Given the description of an element on the screen output the (x, y) to click on. 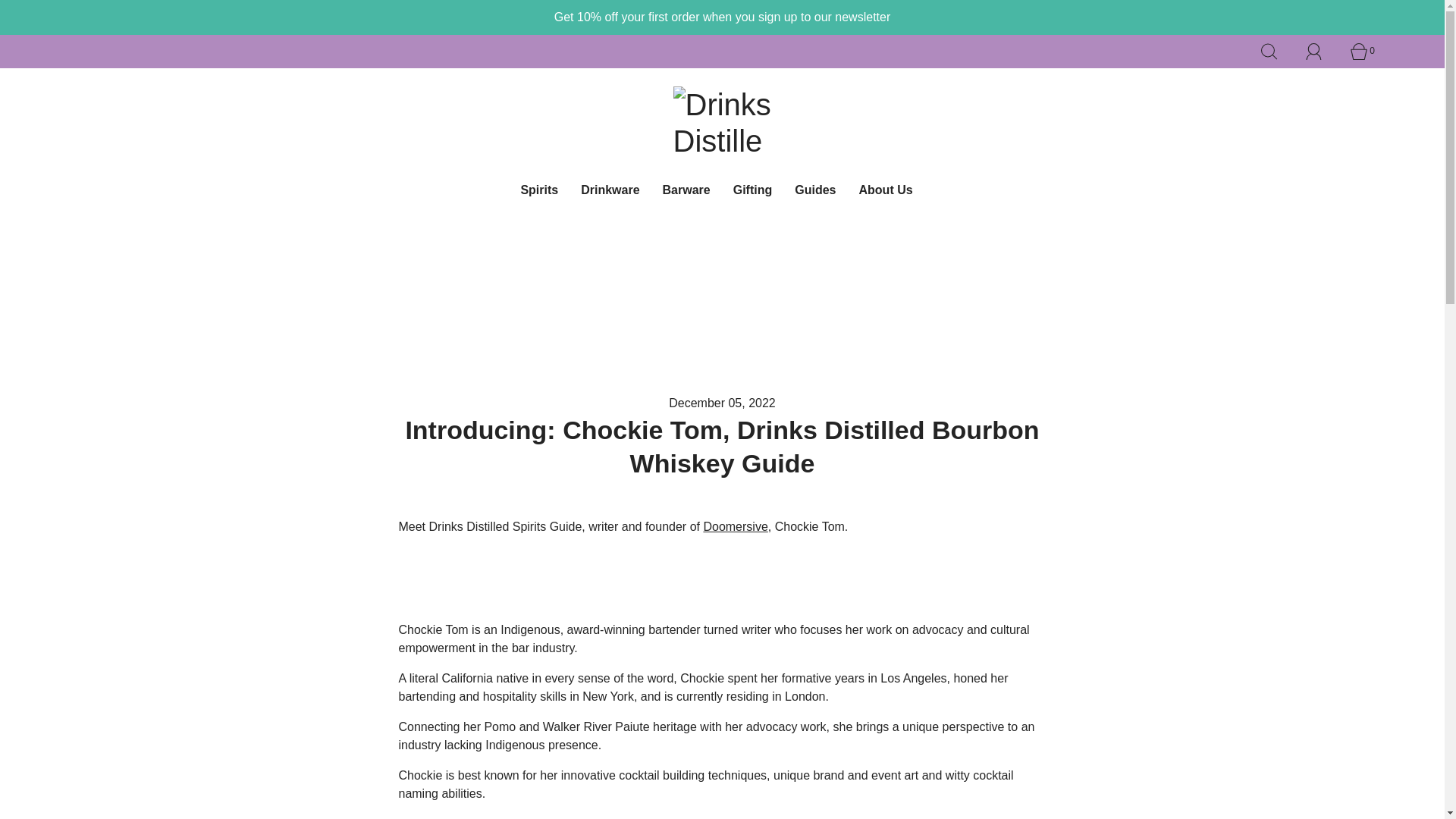
Drinkware (609, 189)
Search (1277, 51)
0 (1367, 51)
Spirits (538, 189)
Log in (1322, 51)
Cart (1367, 51)
